Given the description of an element on the screen output the (x, y) to click on. 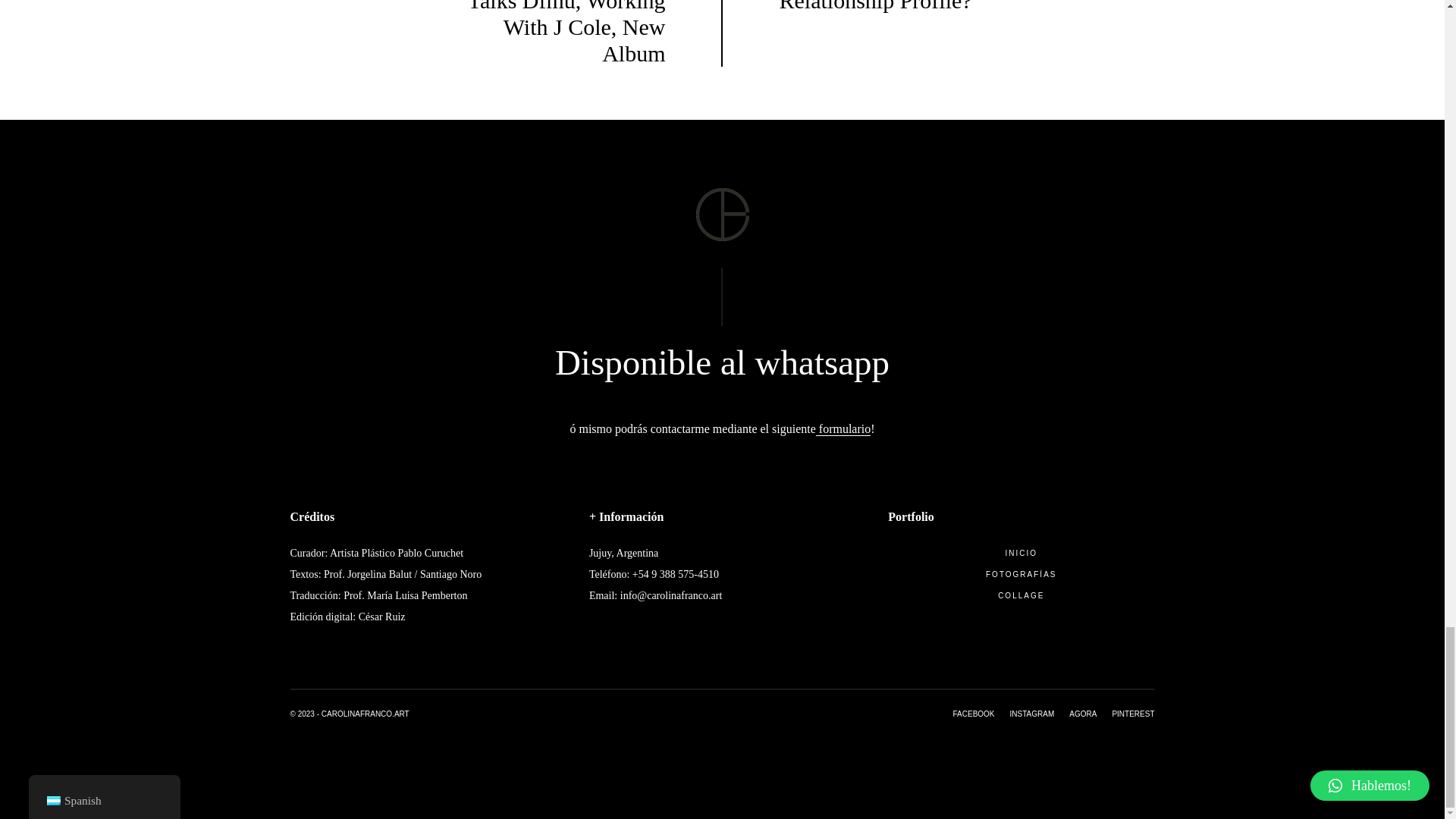
PINTEREST (1125, 714)
AGORA (1075, 714)
formulario (842, 428)
FACEBOOK (973, 714)
INSTAGRAM (1024, 714)
INICIO (1020, 553)
Can You Hide Your Fb Relationship Profile? (888, 6)
COLLAGE (1020, 595)
